Given the description of an element on the screen output the (x, y) to click on. 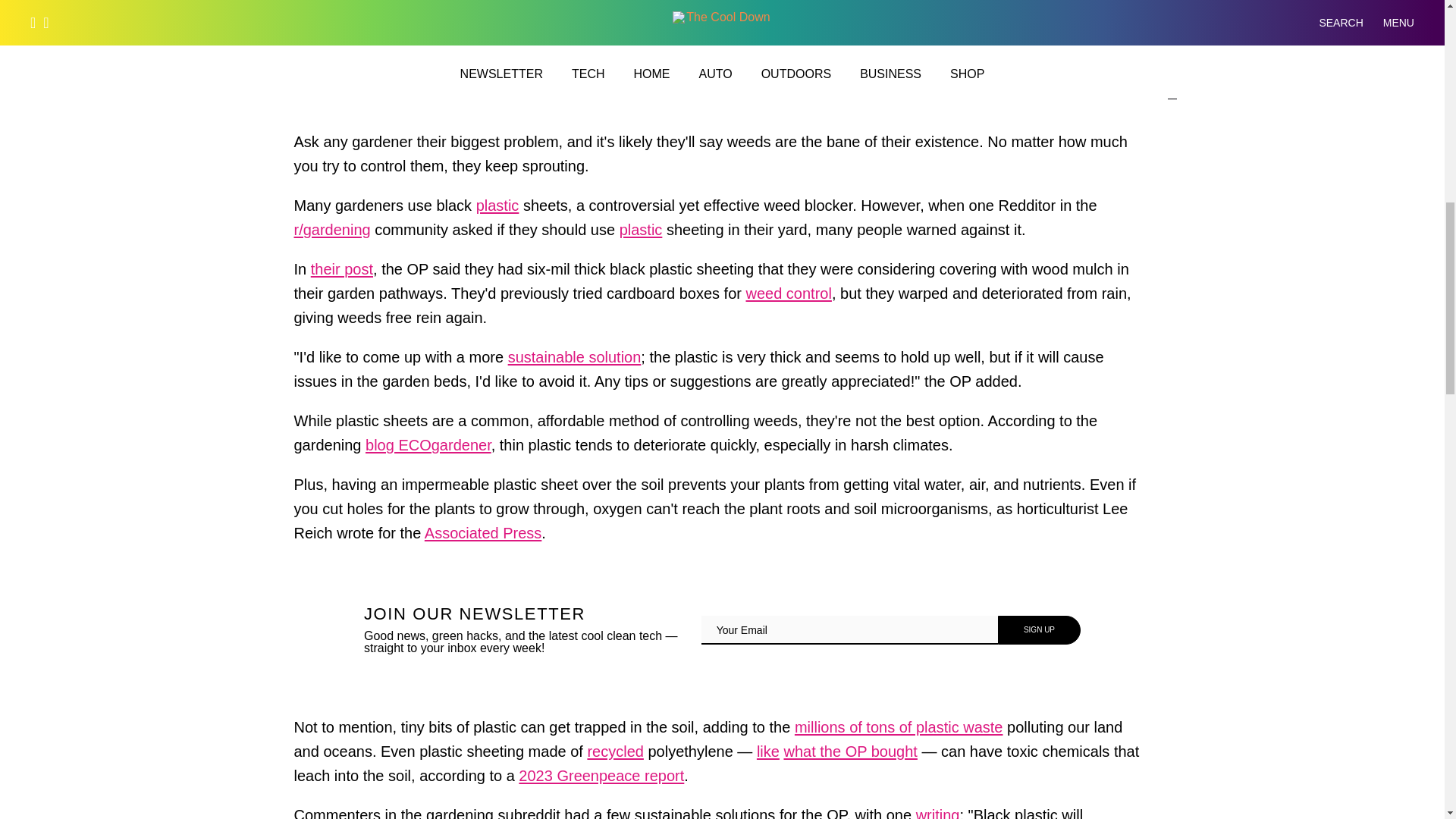
Sign Up (1038, 629)
Plastic (641, 233)
plastic (641, 233)
sustainable solution (575, 360)
plastic (497, 209)
Plastic (497, 209)
weed control (788, 297)
their post (341, 273)
